Given the description of an element on the screen output the (x, y) to click on. 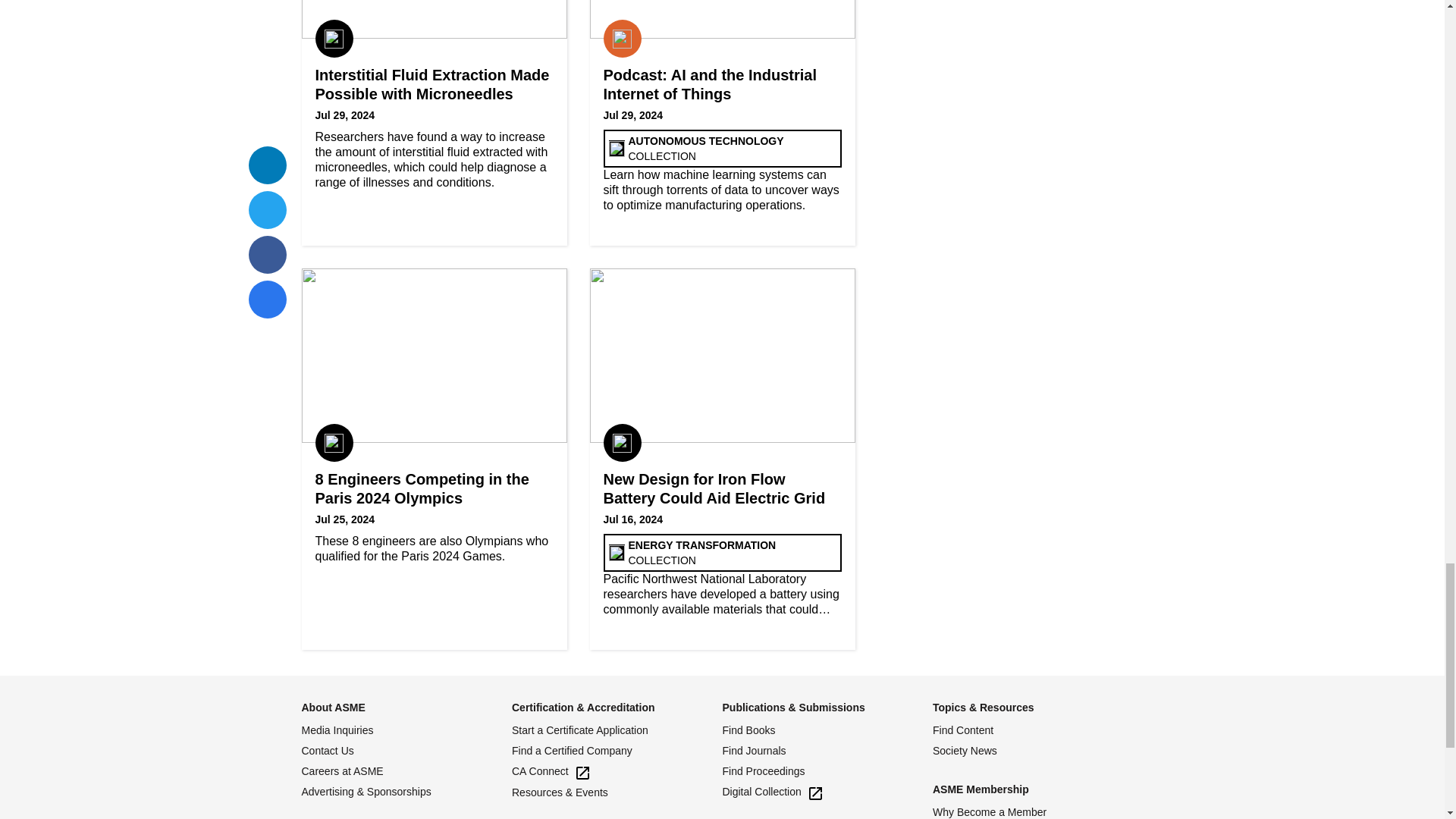
About ASME (333, 707)
